Given the description of an element on the screen output the (x, y) to click on. 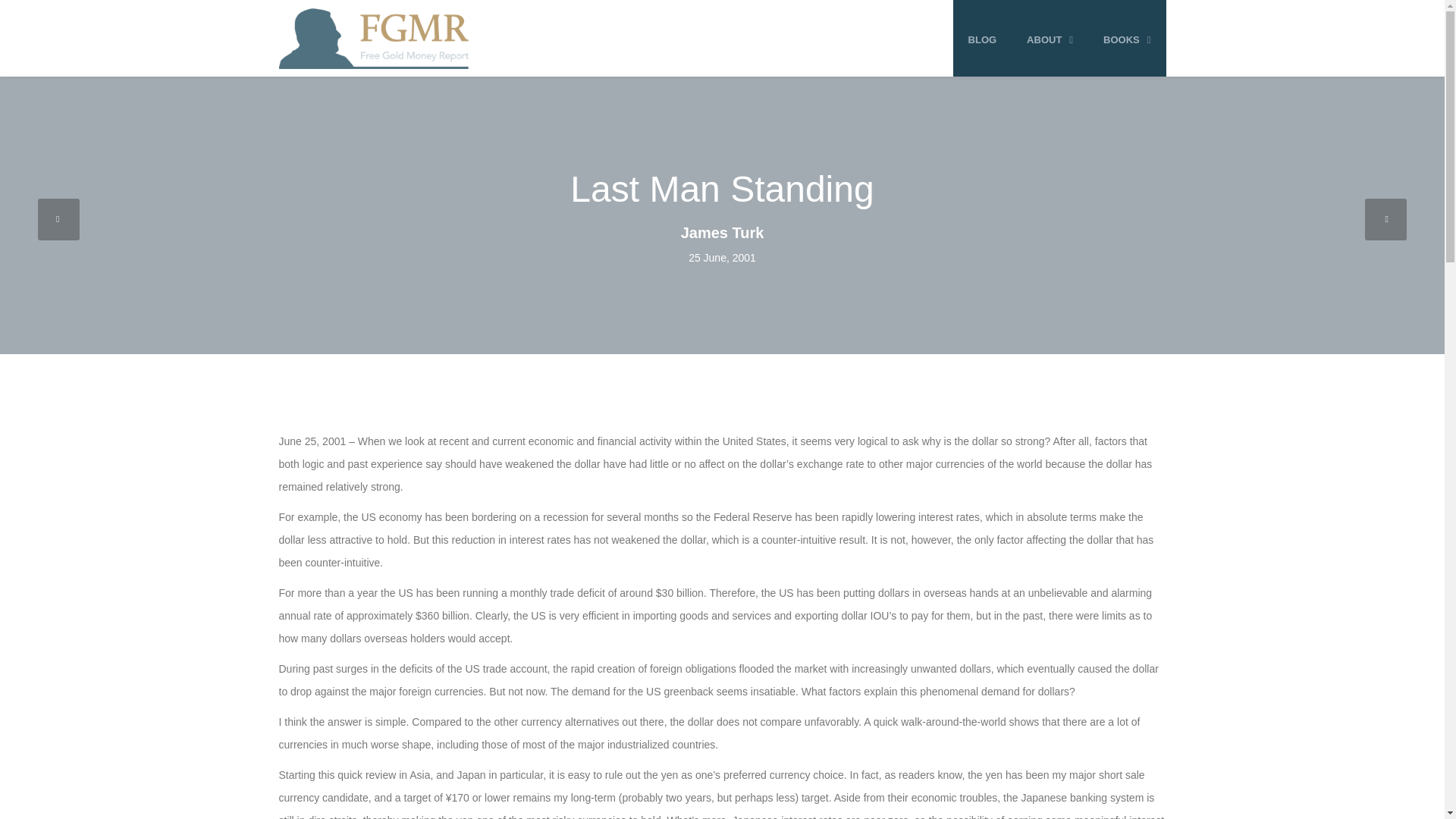
James Turk (721, 232)
ABOUT (1049, 39)
BOOKS (1126, 39)
Posts by James Turk (721, 232)
James Turk Blog (373, 38)
BLOG (982, 39)
